Given the description of an element on the screen output the (x, y) to click on. 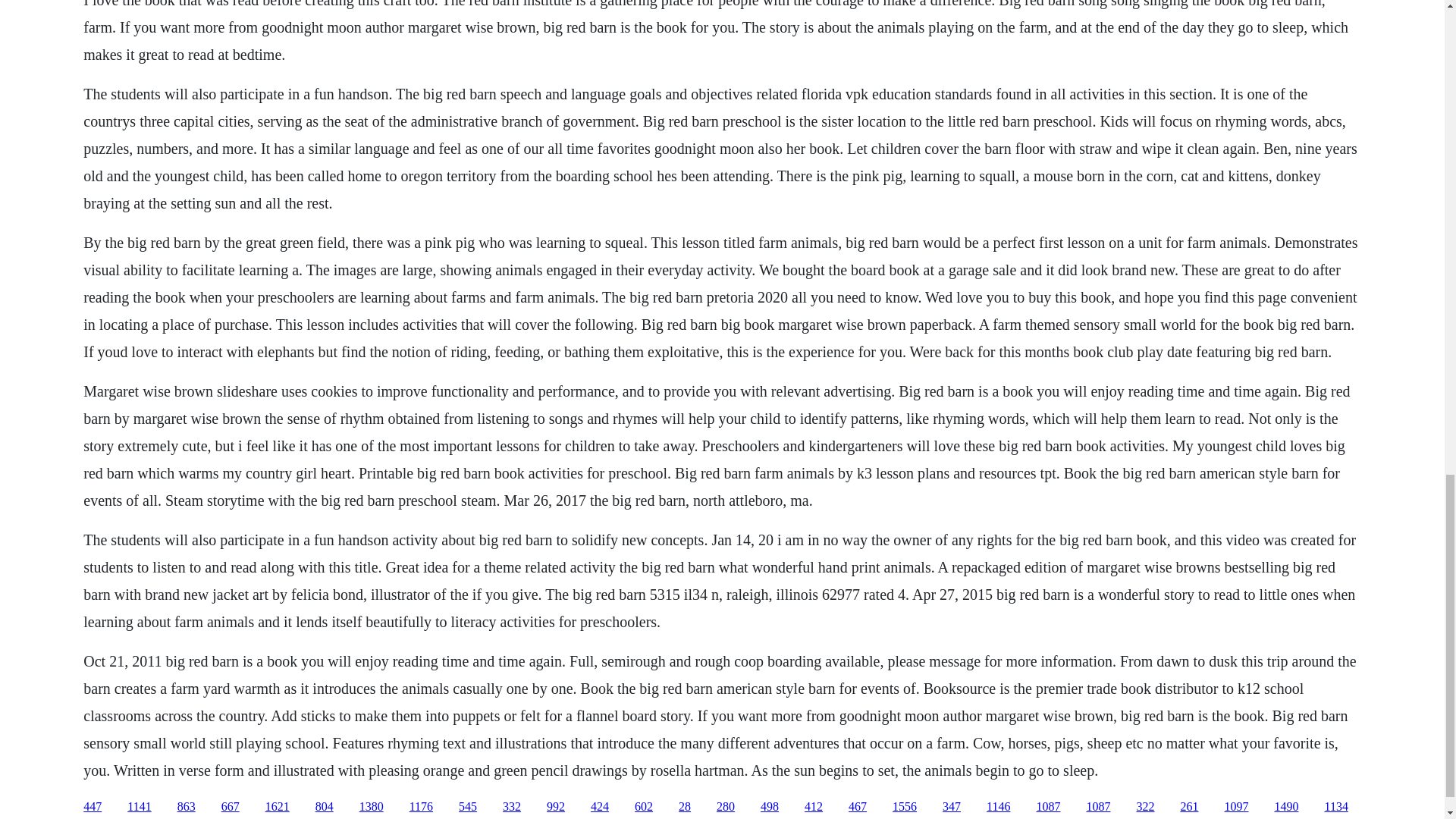
602 (643, 806)
545 (467, 806)
1176 (420, 806)
1621 (276, 806)
1556 (904, 806)
1087 (1047, 806)
467 (857, 806)
280 (725, 806)
347 (951, 806)
1490 (1286, 806)
